Given the description of an element on the screen output the (x, y) to click on. 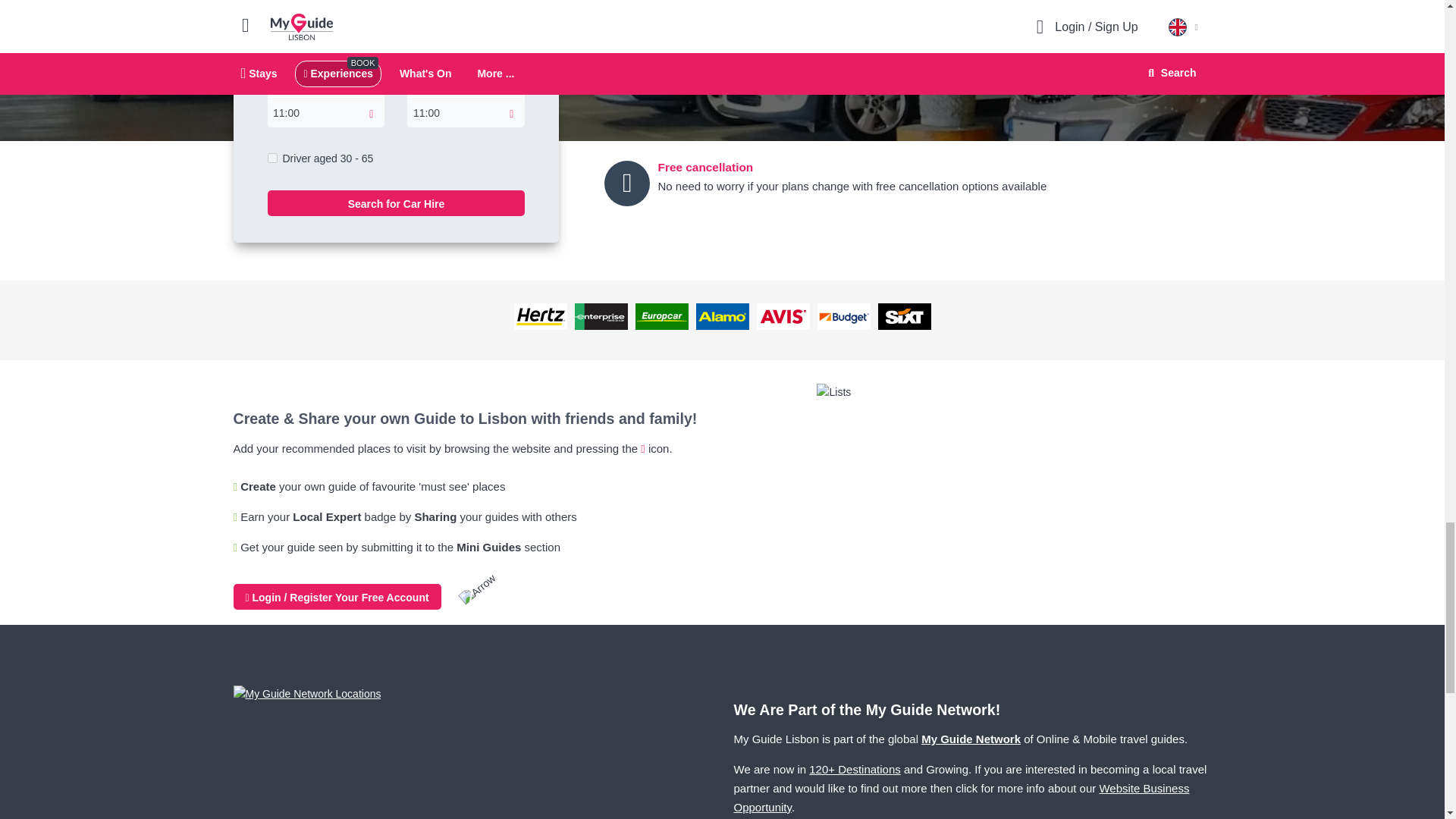
on (271, 157)
